Given the description of an element on the screen output the (x, y) to click on. 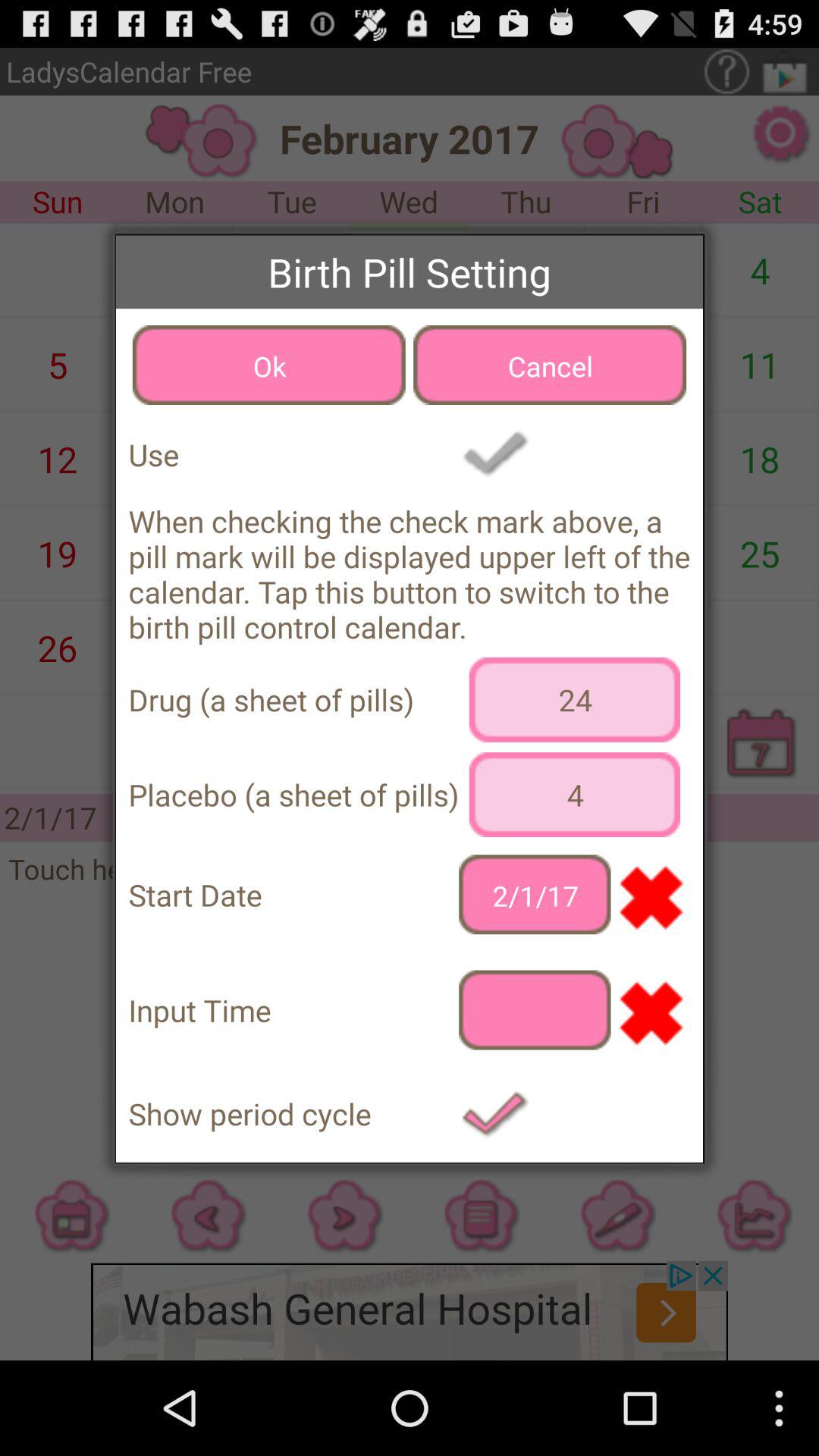
choose ok at the top left corner (268, 364)
